Given the description of an element on the screen output the (x, y) to click on. 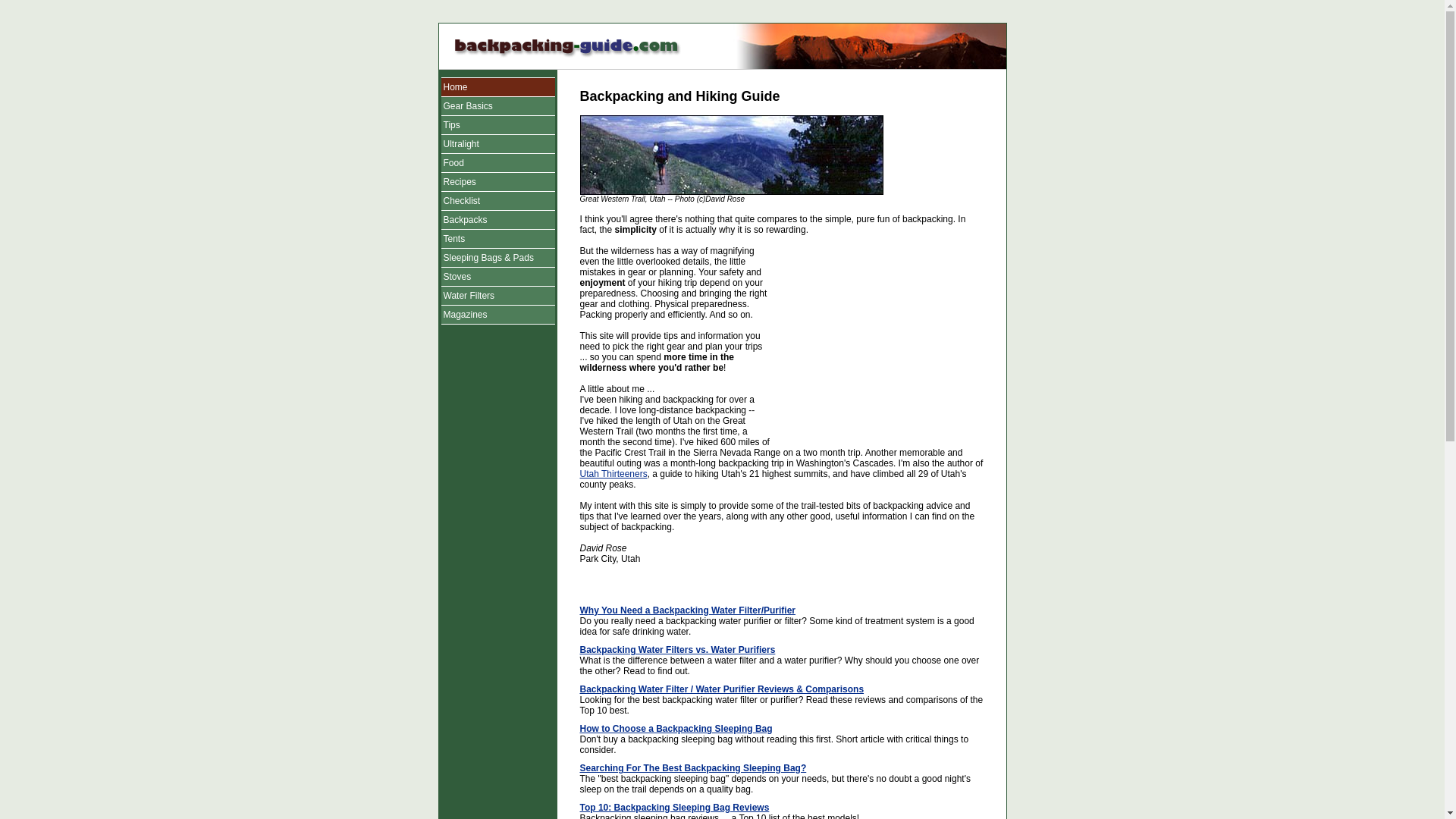
Ultralight (460, 143)
Gear Basics (467, 105)
Tips (451, 124)
Searching For The Best Backpacking Sleeping Bag? (692, 767)
Backpacks (464, 219)
Home (454, 86)
Magazines (464, 314)
Stoves (456, 276)
How to Choose a Backpacking Sleeping Bag (675, 728)
Food (452, 163)
